Given the description of an element on the screen output the (x, y) to click on. 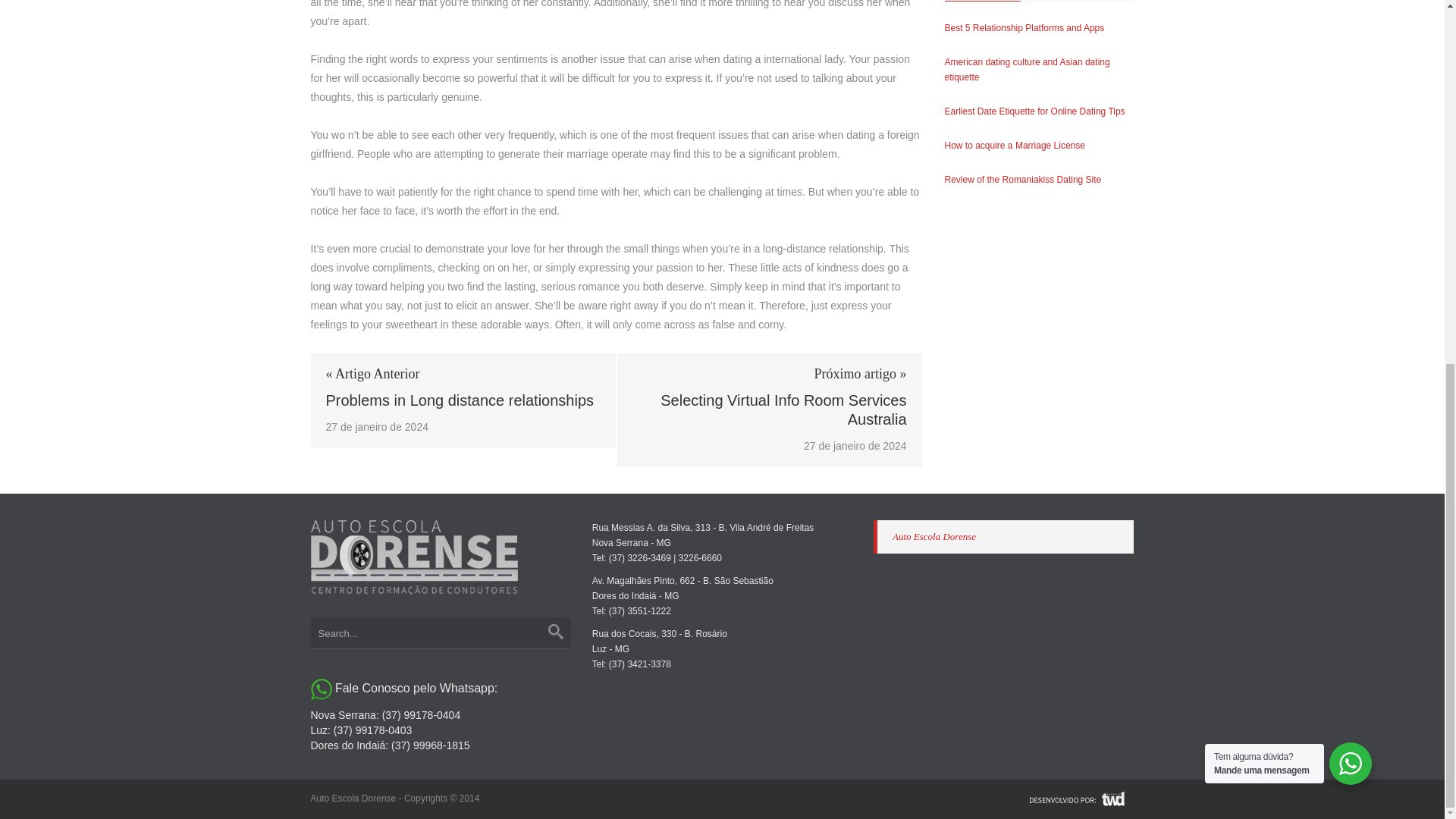
American dating culture and Asian dating etiquette (1026, 69)
How to acquire a Marriage License (1014, 145)
Search... (440, 633)
Problems in Long distance relationships (462, 400)
Best 5 Relationship Platforms and Apps (1024, 27)
Selecting Virtual Info Room Services Australia (769, 410)
Search... (440, 633)
Review of the Romaniakiss Dating Site (1023, 179)
Earliest Date Etiquette for Online Dating Tips (1034, 111)
Auto Escola Dorense (933, 536)
